Given the description of an element on the screen output the (x, y) to click on. 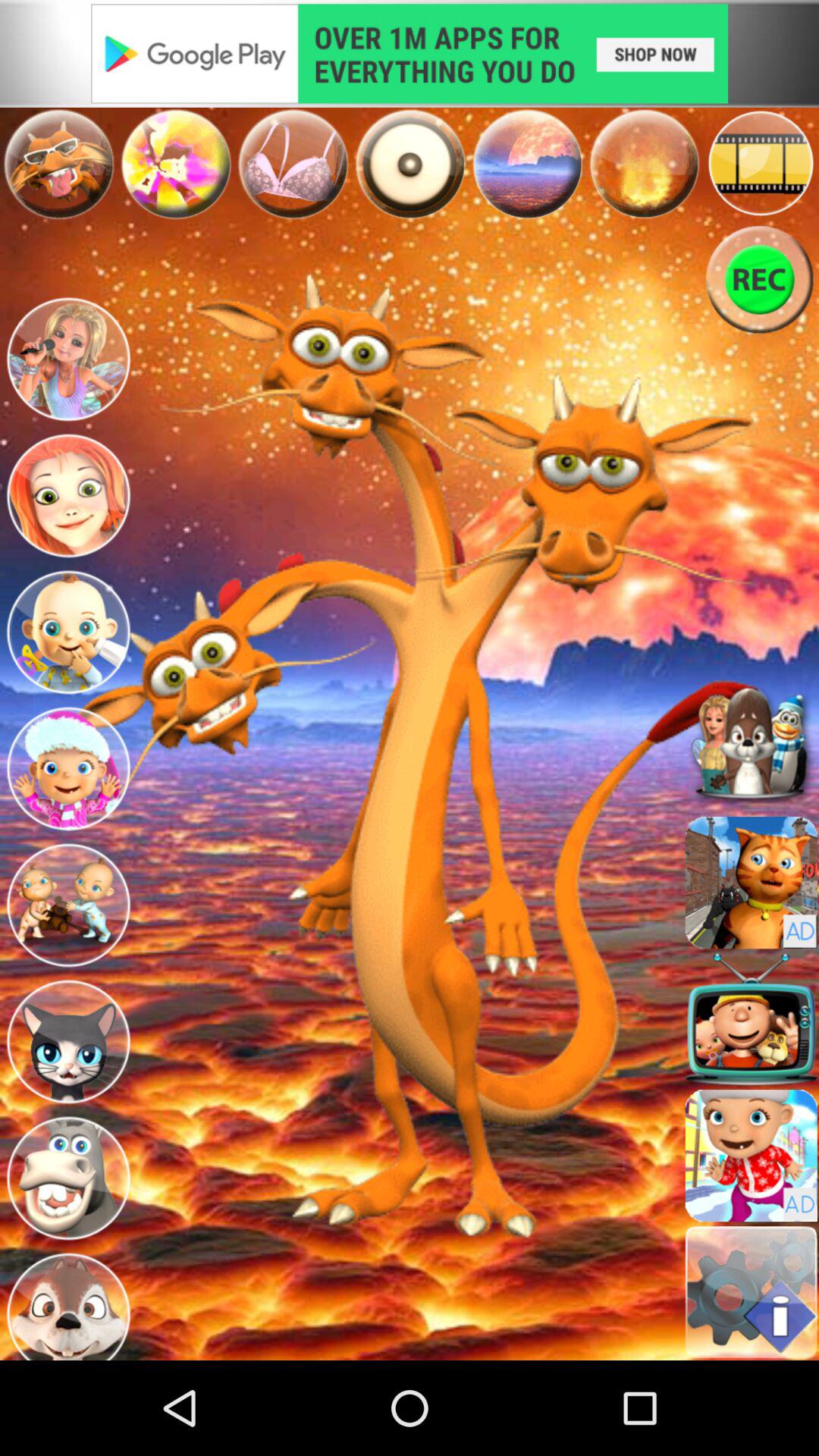
change playable character (68, 361)
